Given the description of an element on the screen output the (x, y) to click on. 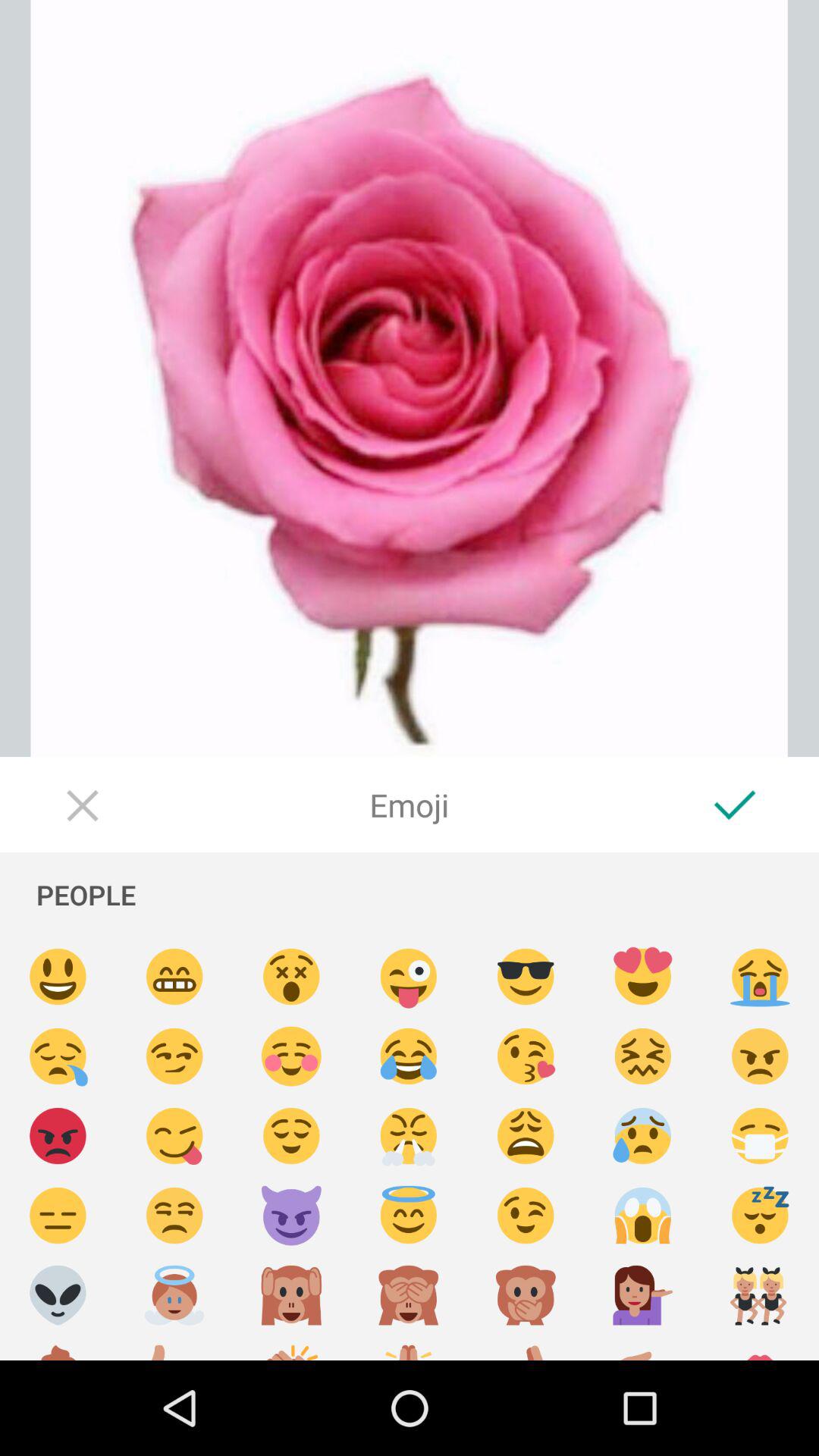
emoji select option (291, 1215)
